Given the description of an element on the screen output the (x, y) to click on. 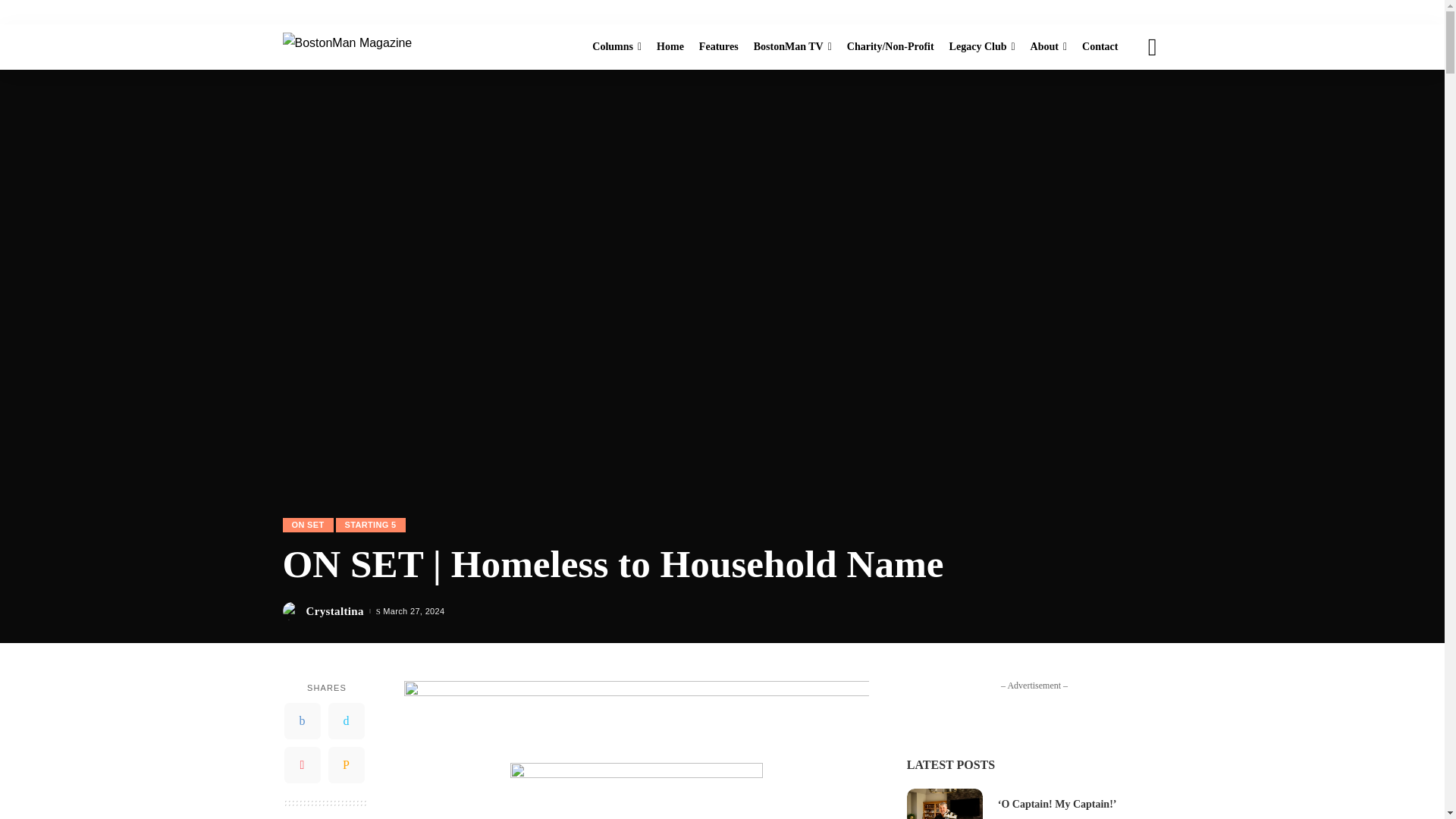
Facebook (301, 720)
Pinterest (301, 764)
Twitter (345, 720)
BostonMan Magazine (347, 46)
Email (345, 764)
